Given the description of an element on the screen output the (x, y) to click on. 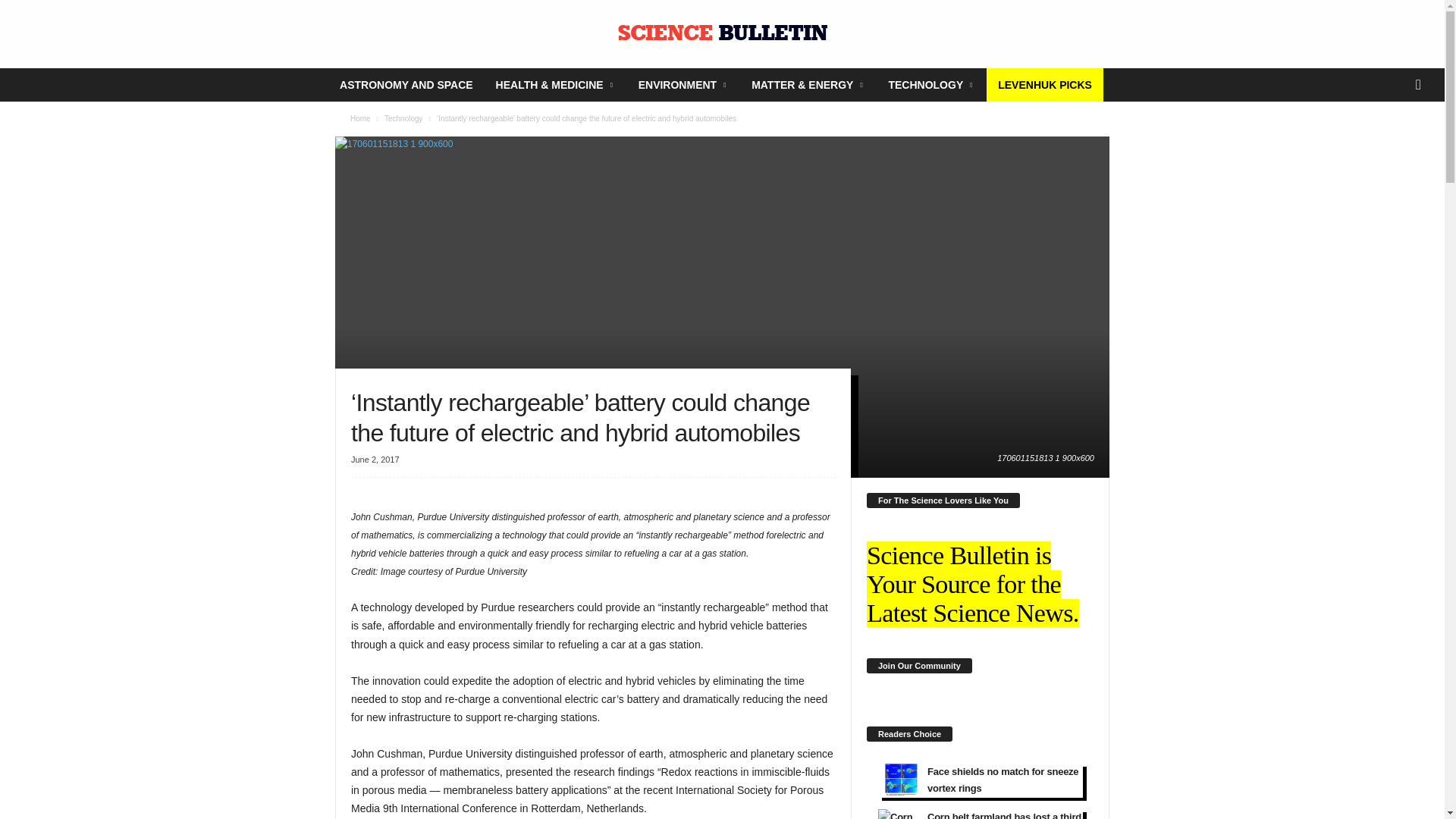
ASTRONOMY AND SPACE (406, 84)
ENVIRONMENT (683, 84)
View all posts in Technology (403, 118)
